Given the description of an element on the screen output the (x, y) to click on. 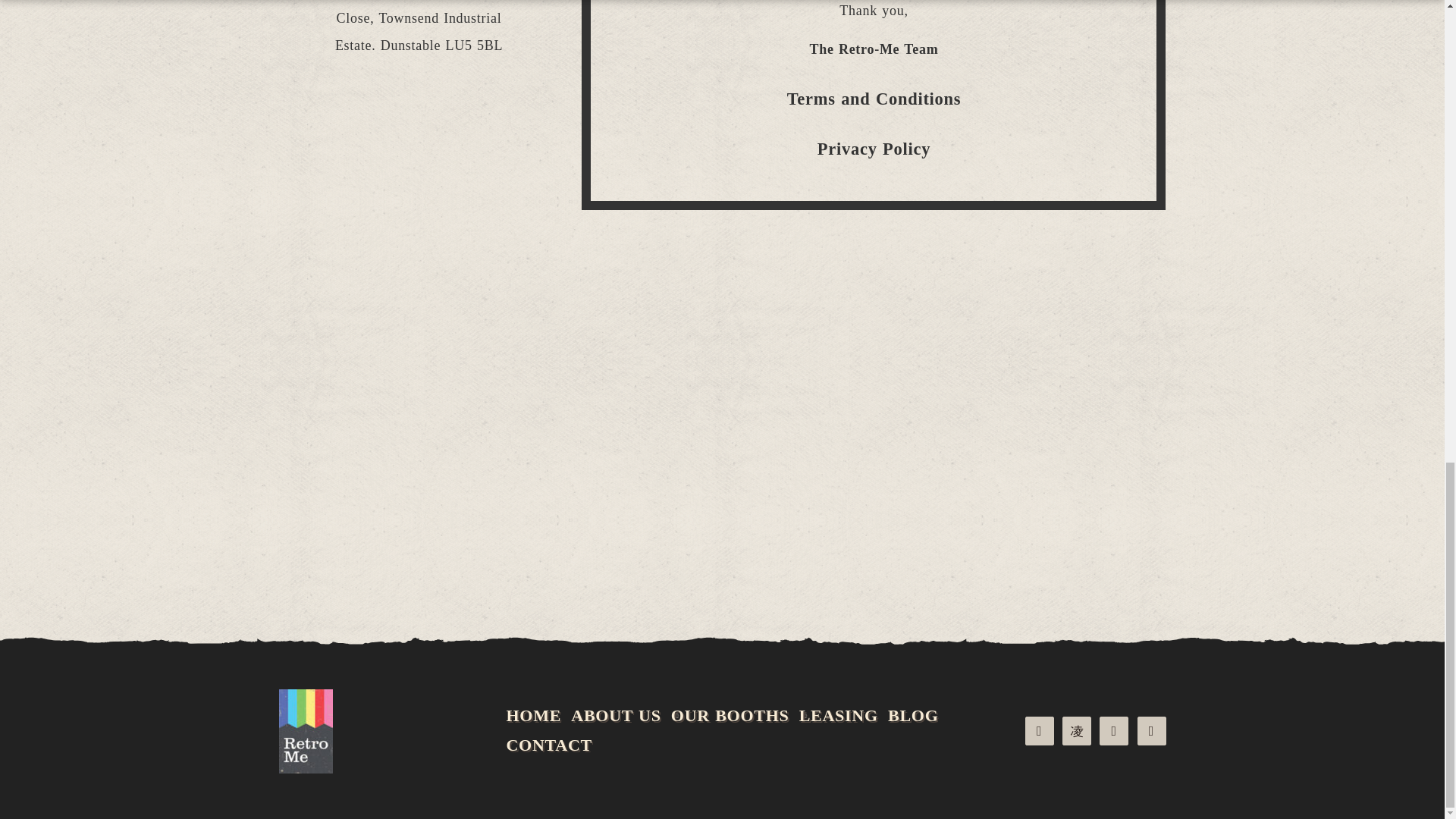
Linkedin (1151, 730)
Facebook (1039, 730)
Twitter (1113, 730)
Instagram (1076, 730)
